Given the description of an element on the screen output the (x, y) to click on. 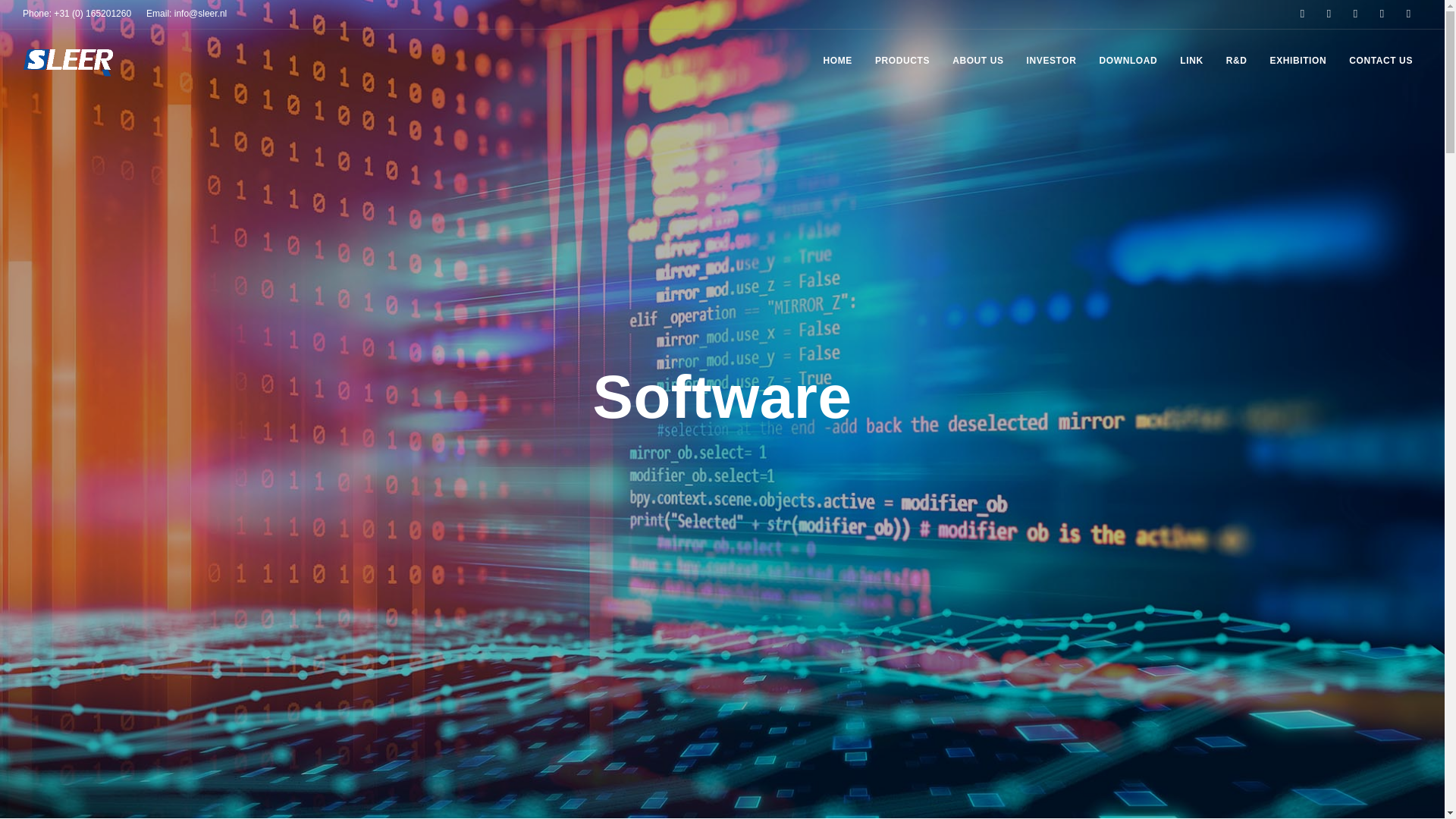
CONTACT US (1380, 60)
ABOUT US (977, 60)
DOWNLOAD (1128, 60)
INVESTOR (1051, 60)
LINK (1190, 60)
HOME (837, 60)
PRODUCTS (902, 60)
EXHIBITION (1298, 60)
